Given the description of an element on the screen output the (x, y) to click on. 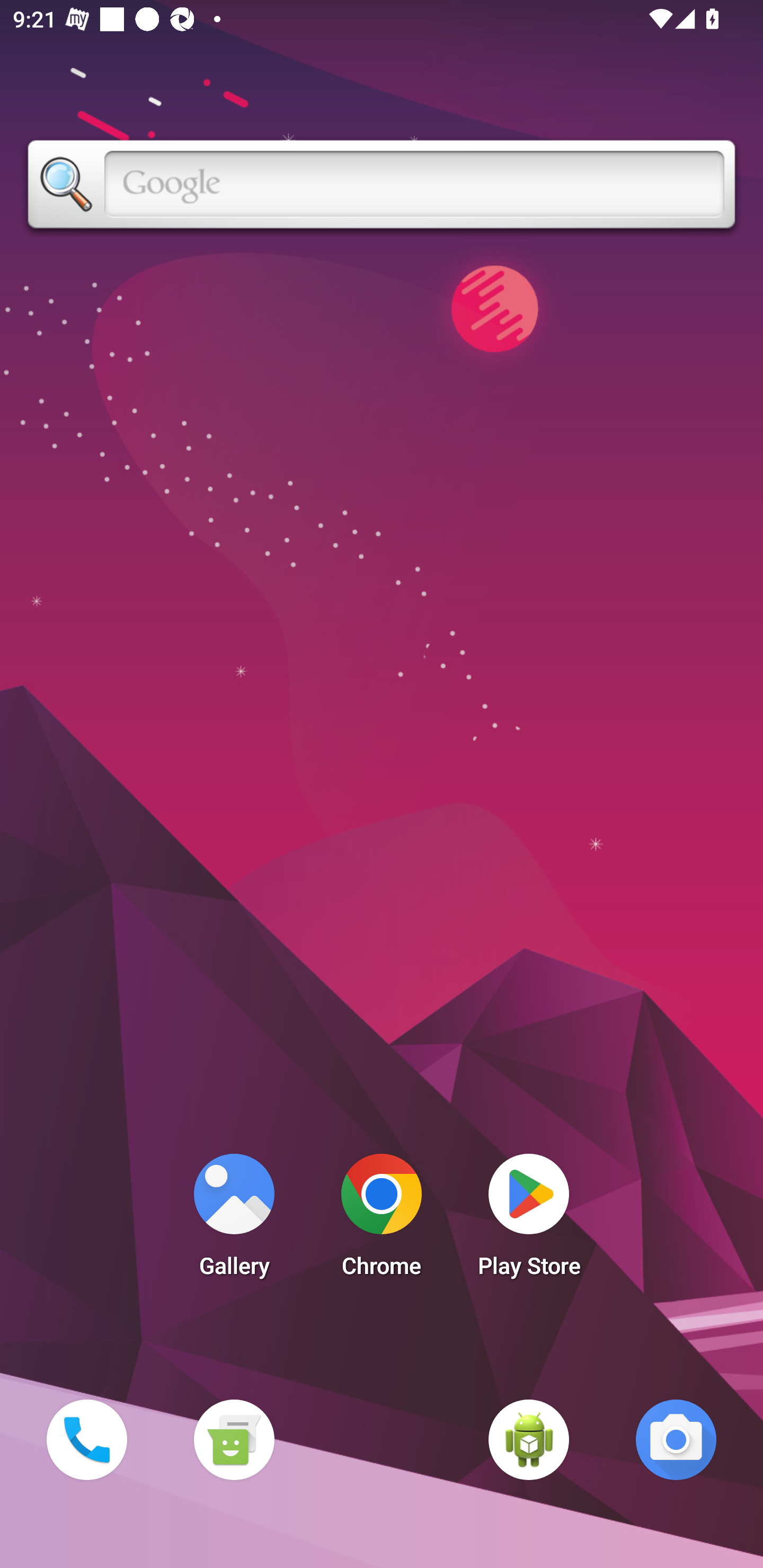
Gallery (233, 1220)
Chrome (381, 1220)
Play Store (528, 1220)
Phone (86, 1439)
Messaging (233, 1439)
WebView Browser Tester (528, 1439)
Camera (676, 1439)
